Given the description of an element on the screen output the (x, y) to click on. 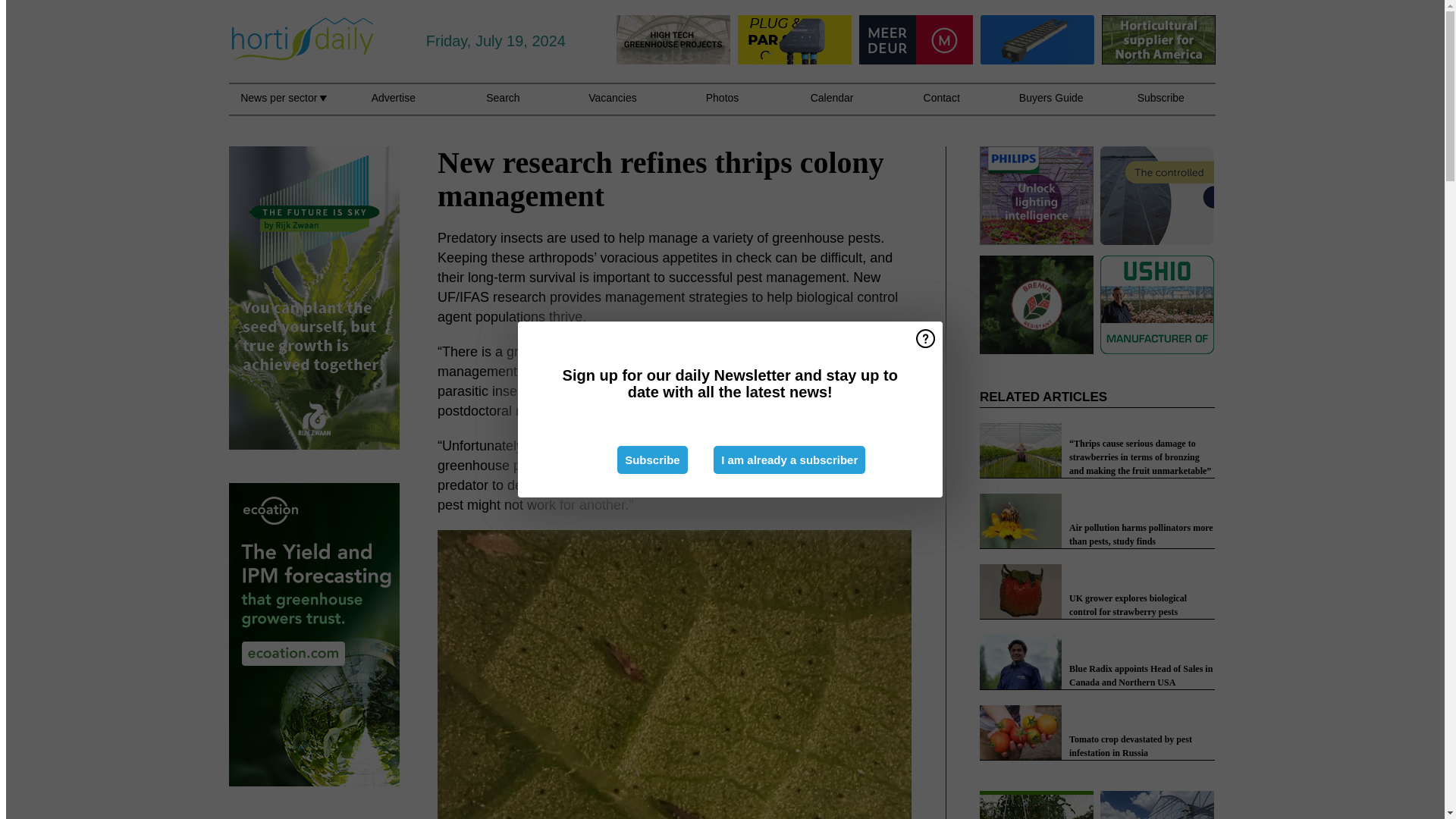
Advertise (392, 106)
I am already a subscriber (788, 459)
News per sector (283, 106)
Subscribe (652, 459)
